Given the description of an element on the screen output the (x, y) to click on. 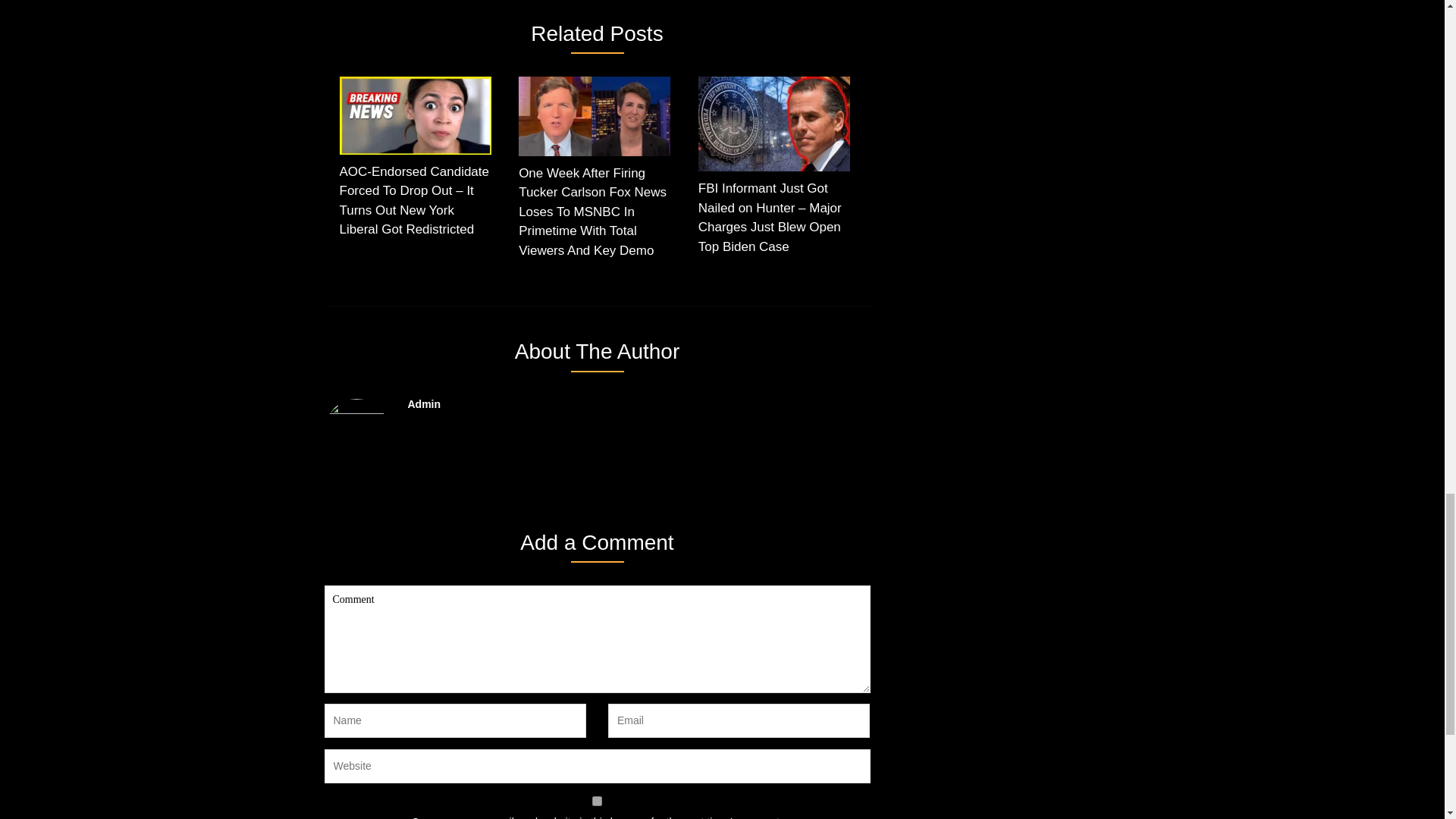
yes (597, 800)
